Given the description of an element on the screen output the (x, y) to click on. 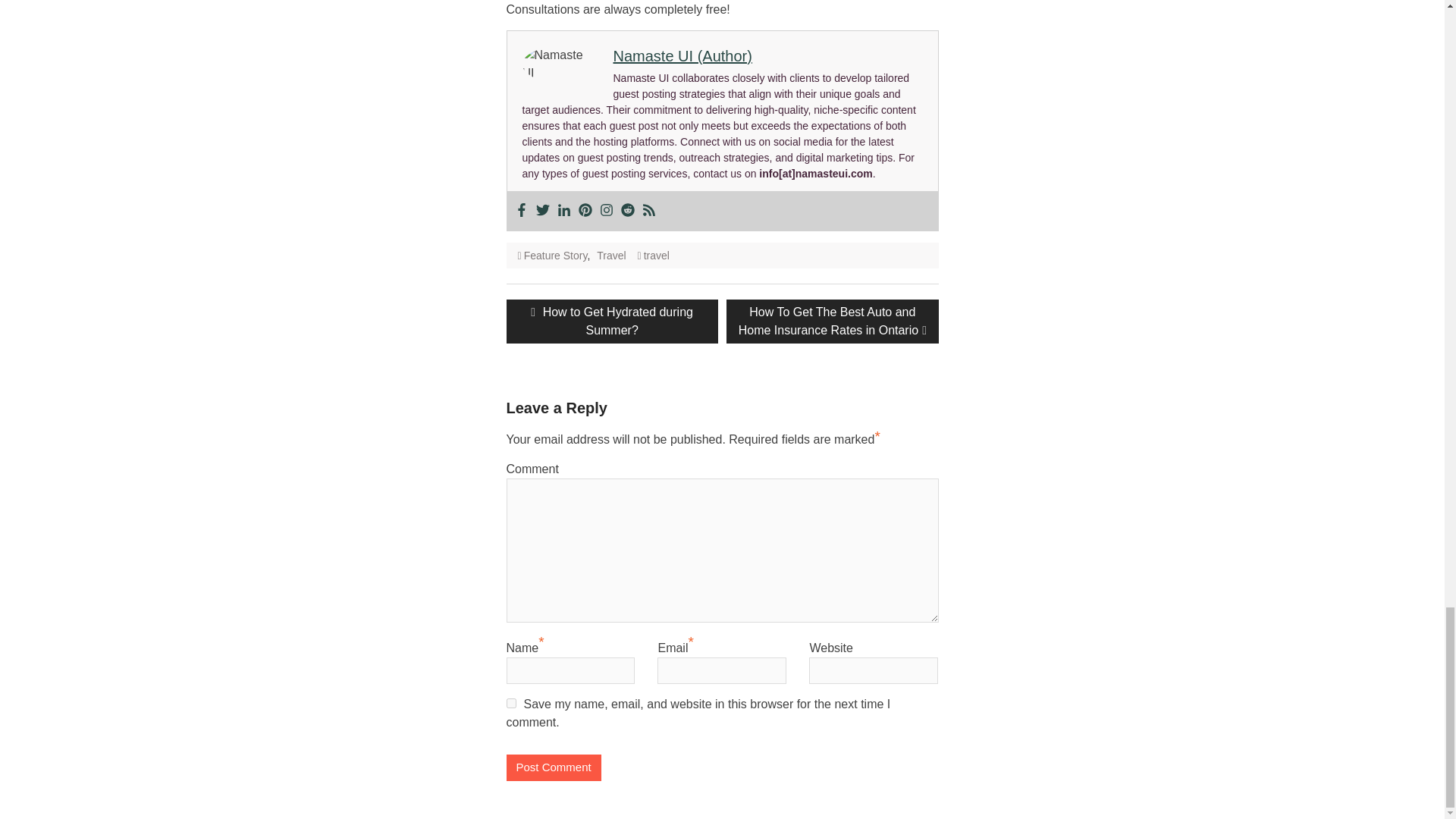
yes (511, 703)
Post Comment (553, 767)
